Given the description of an element on the screen output the (x, y) to click on. 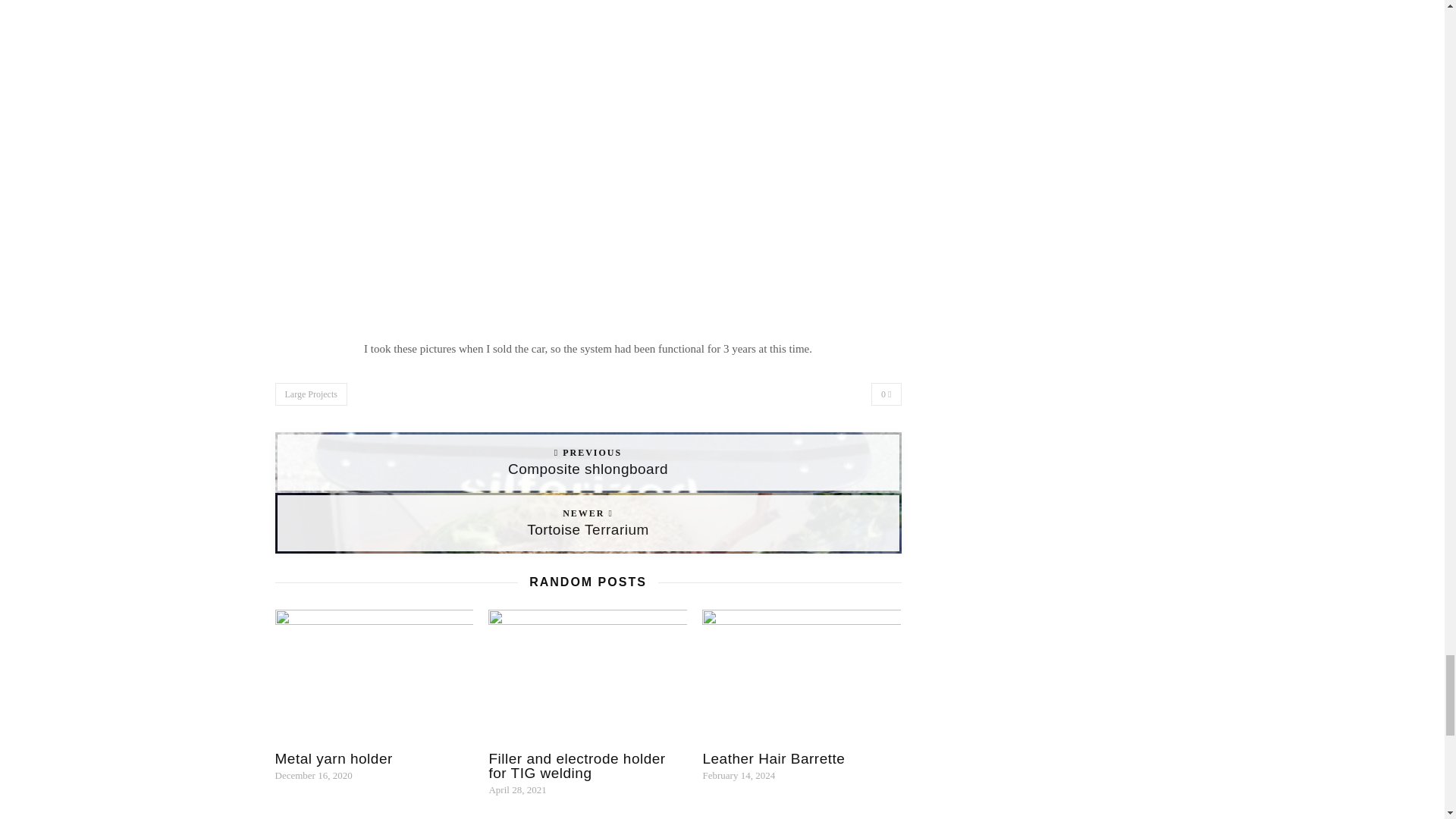
Metal yarn holder (588, 462)
Filler and electrode holder for TIG welding (333, 758)
0  (588, 523)
Large Projects (576, 766)
Leather Hair Barrette (885, 394)
